Given the description of an element on the screen output the (x, y) to click on. 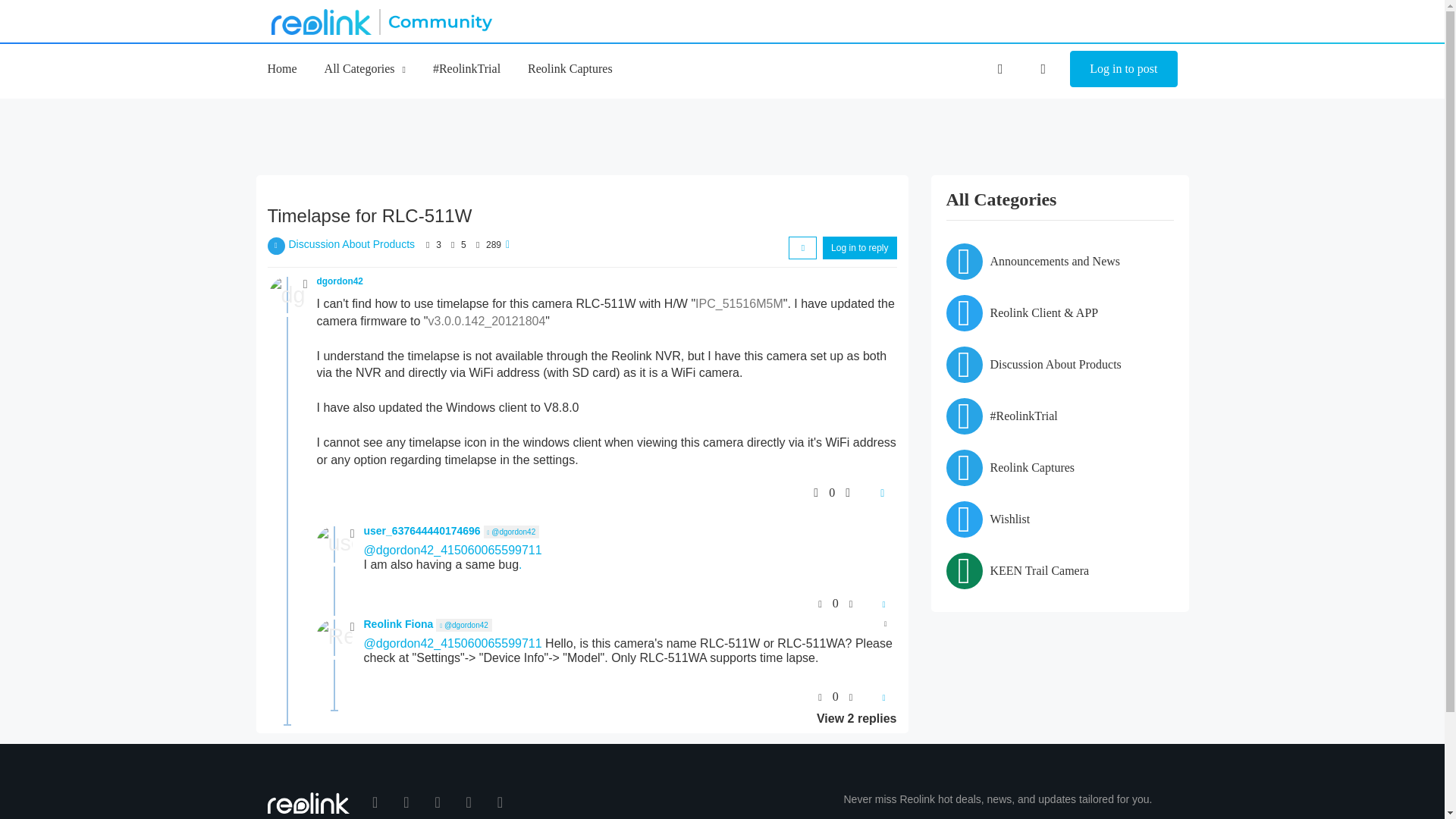
Posts (452, 244)
Discussion About Products (351, 244)
All Categories (365, 68)
Home (281, 68)
Views (477, 244)
Log in to reply (859, 247)
Log in to post (1123, 68)
Sort by (802, 247)
289 (493, 244)
Reolink Captures (569, 68)
